Given the description of an element on the screen output the (x, y) to click on. 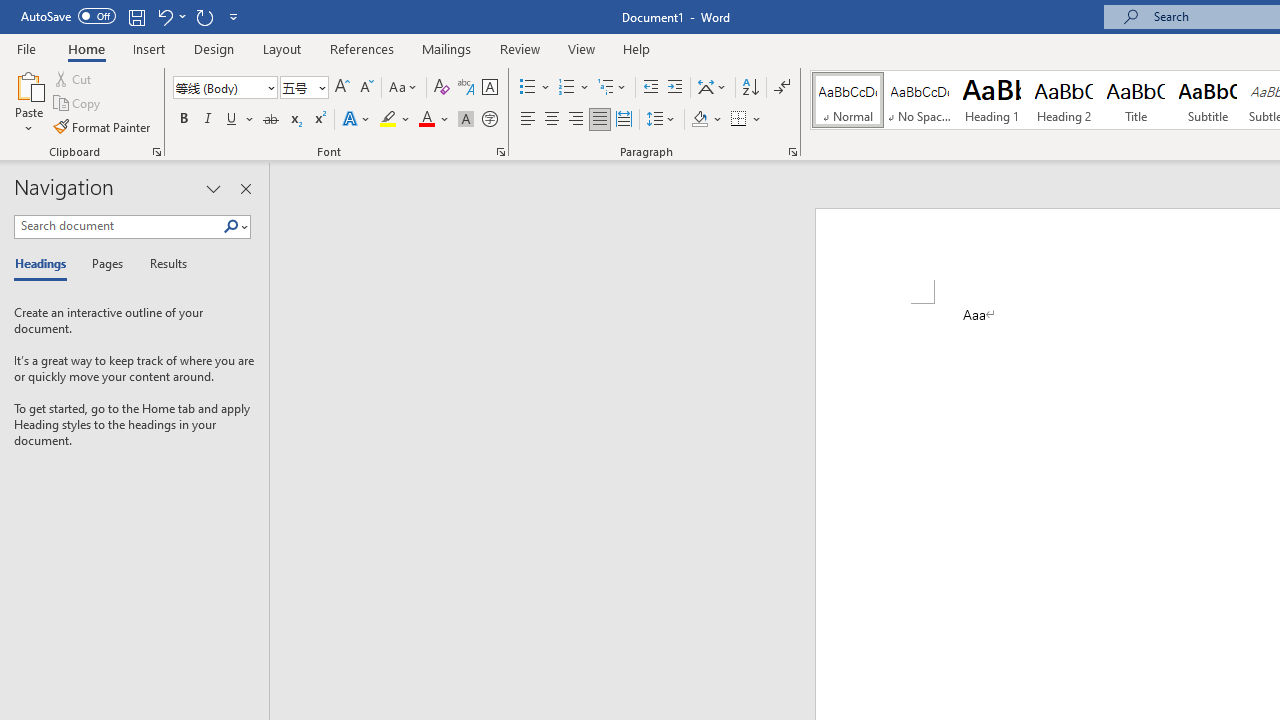
Text Effects and Typography (357, 119)
Heading 2 (1063, 100)
Font Color Red (426, 119)
Font Color (434, 119)
Sort... (750, 87)
Character Border (489, 87)
Bold (183, 119)
Grow Font (342, 87)
Headings (45, 264)
Decrease Indent (650, 87)
